Given the description of an element on the screen output the (x, y) to click on. 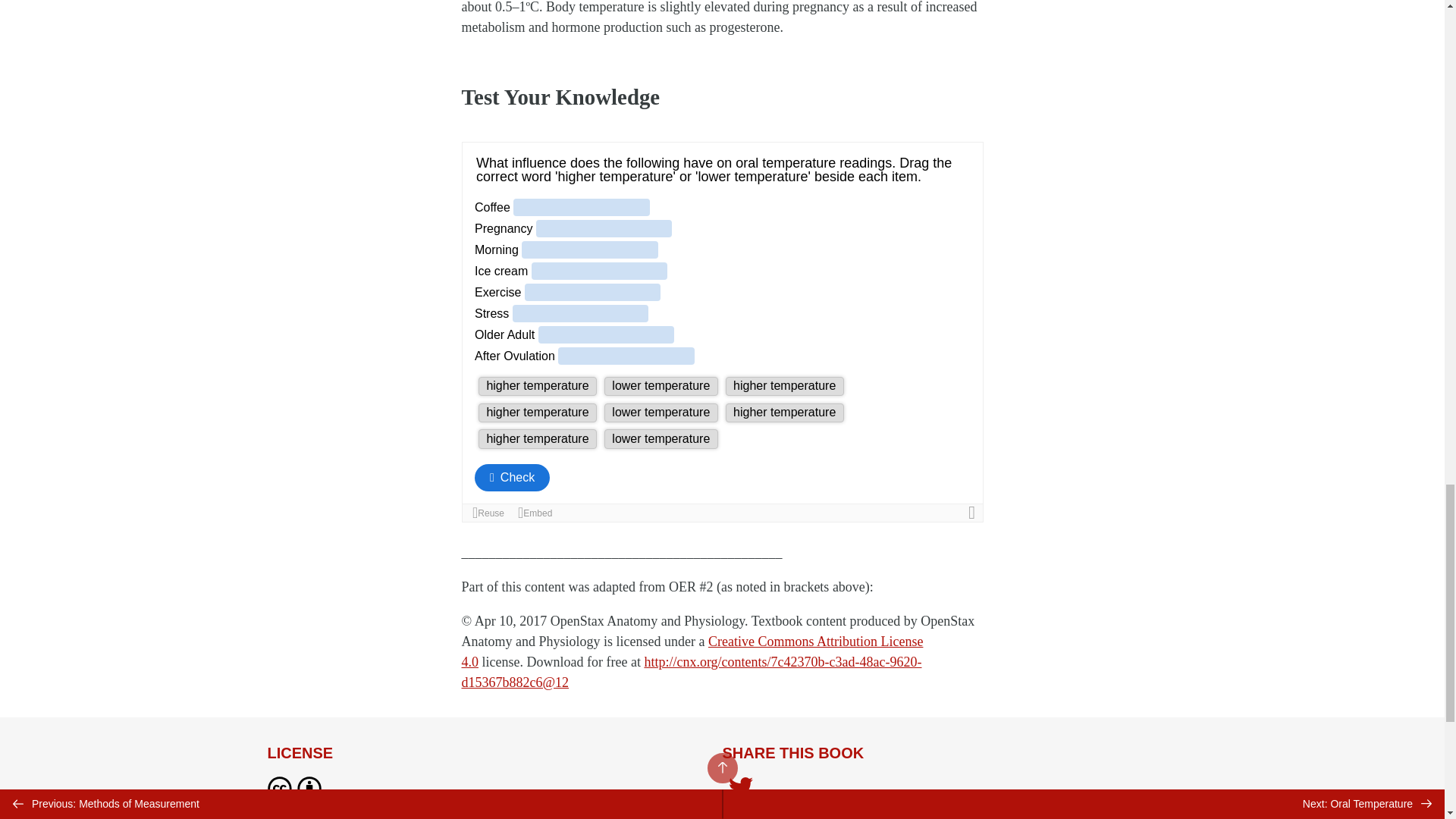
Creative Commons Attribution License 4.0 (692, 651)
Share on Twitter (740, 790)
Share on Twitter (740, 788)
